Given the description of an element on the screen output the (x, y) to click on. 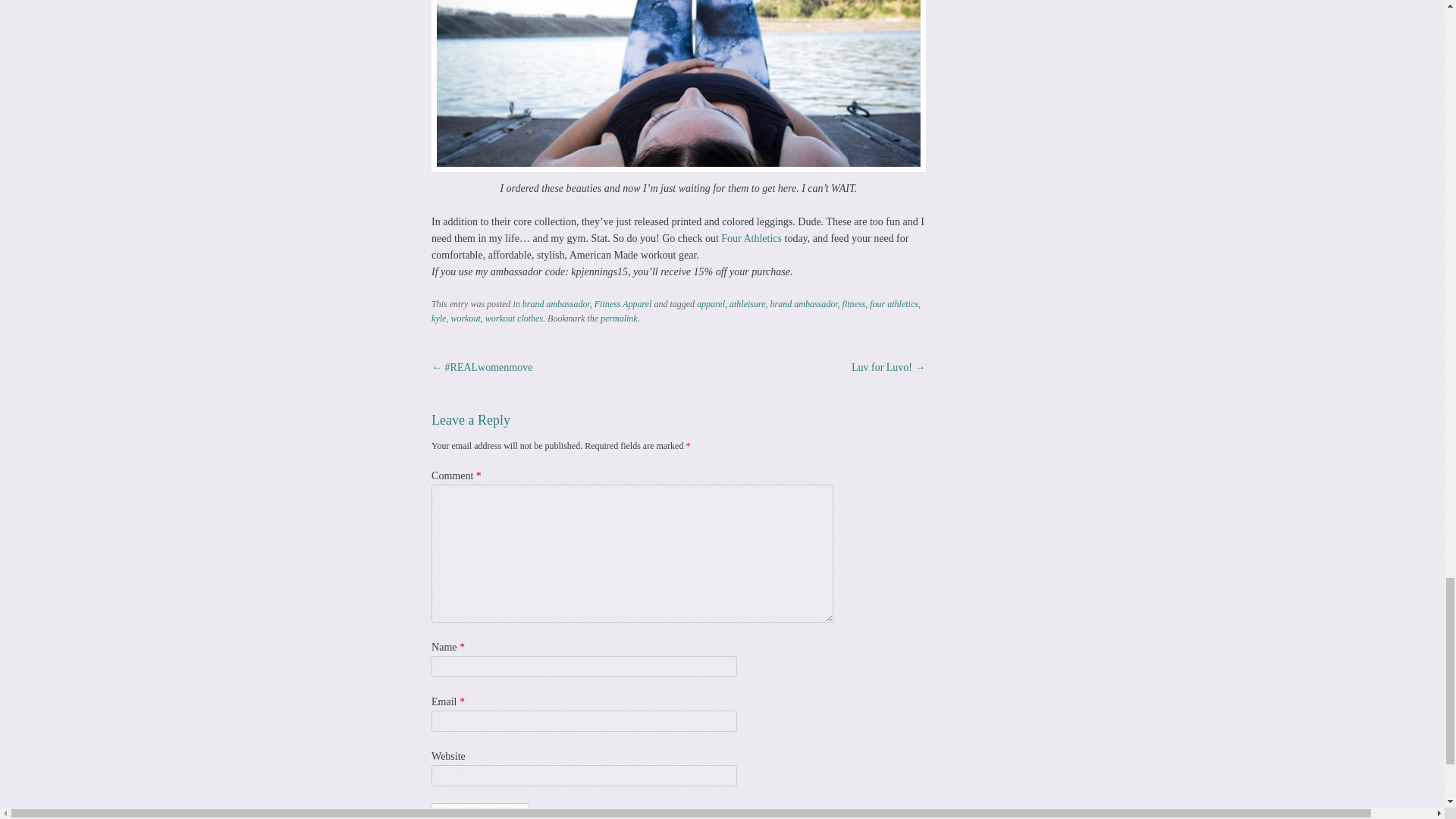
workout (464, 317)
four athletics (893, 303)
Fitness Apparel (623, 303)
permalink (618, 317)
brand ambassador (804, 303)
Four Athletics (750, 238)
workout clothes (513, 317)
brand ambassador (555, 303)
kyle (437, 317)
Permalink to Kyle is a Four Athletics Ambassador! (618, 317)
Post Comment (479, 811)
apparel (711, 303)
athleisure (747, 303)
fitness (854, 303)
